Given the description of an element on the screen output the (x, y) to click on. 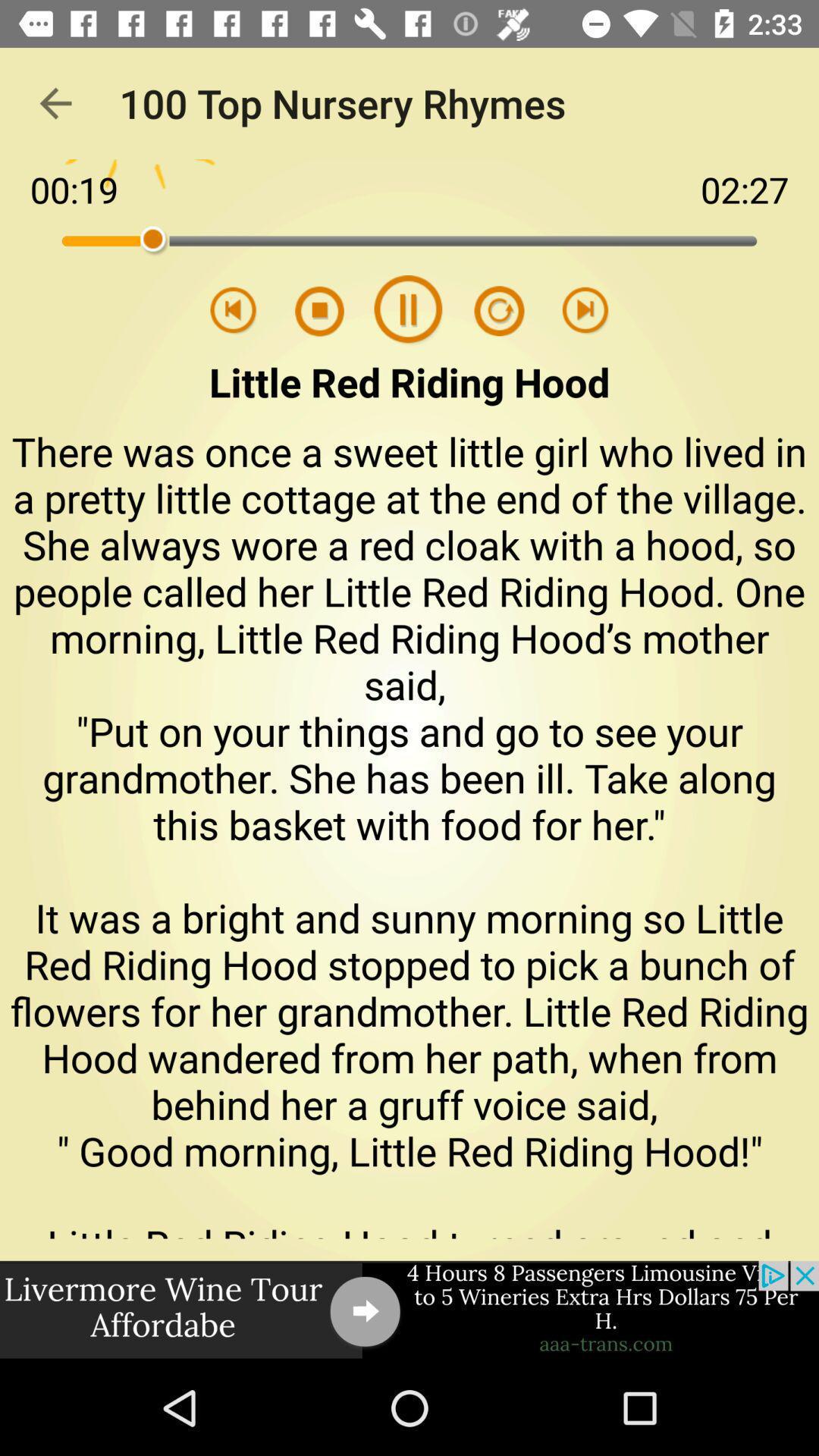
go to previous (233, 310)
